Given the description of an element on the screen output the (x, y) to click on. 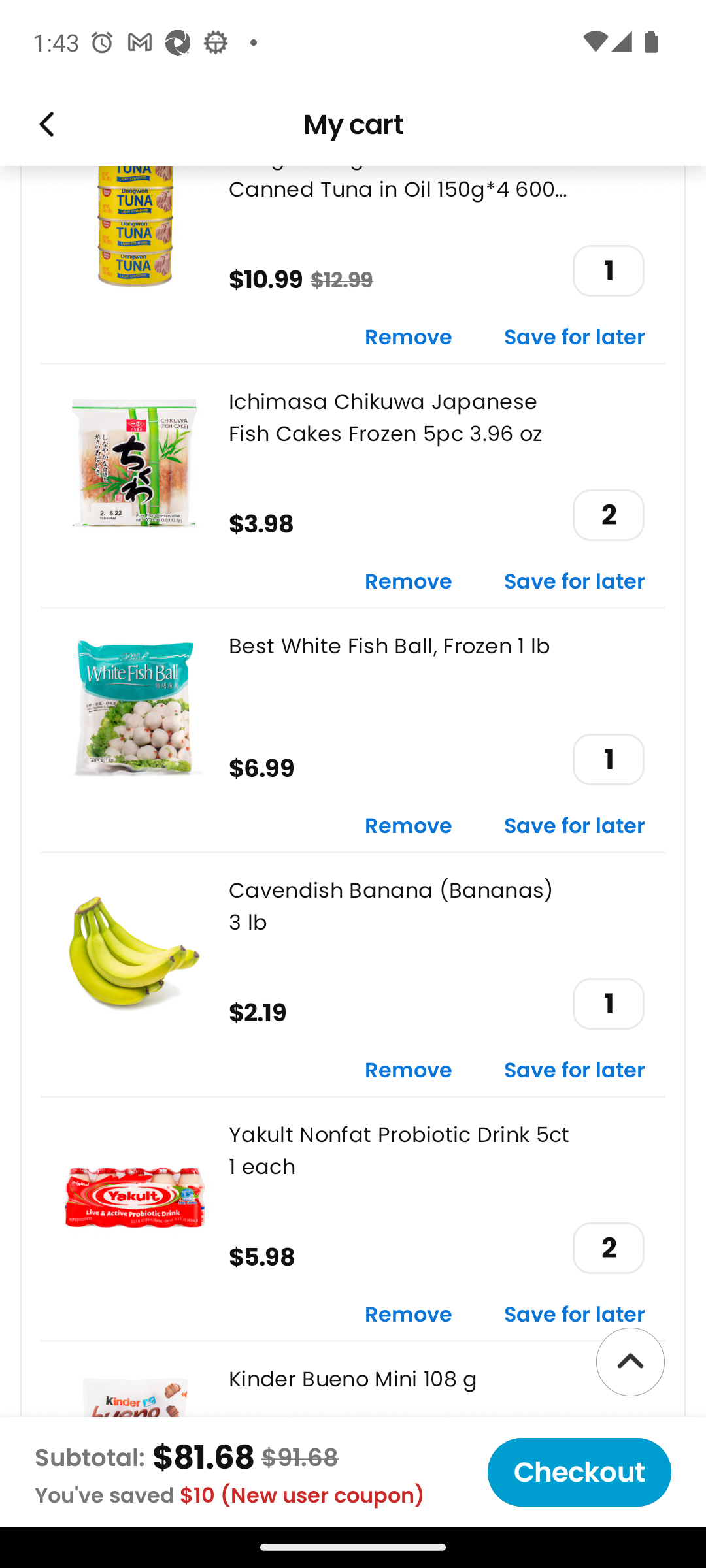
1 (608, 270)
Remove (408, 337)
Save for later (574, 337)
2 (608, 514)
Remove (408, 582)
Save for later (574, 582)
1 (608, 759)
Remove (408, 826)
Save for later (574, 826)
1 (608, 1004)
Remove (408, 1071)
Save for later (574, 1071)
2 (608, 1248)
Remove (408, 1315)
Save for later (574, 1315)
Checkout (579, 1471)
